Given the description of an element on the screen output the (x, y) to click on. 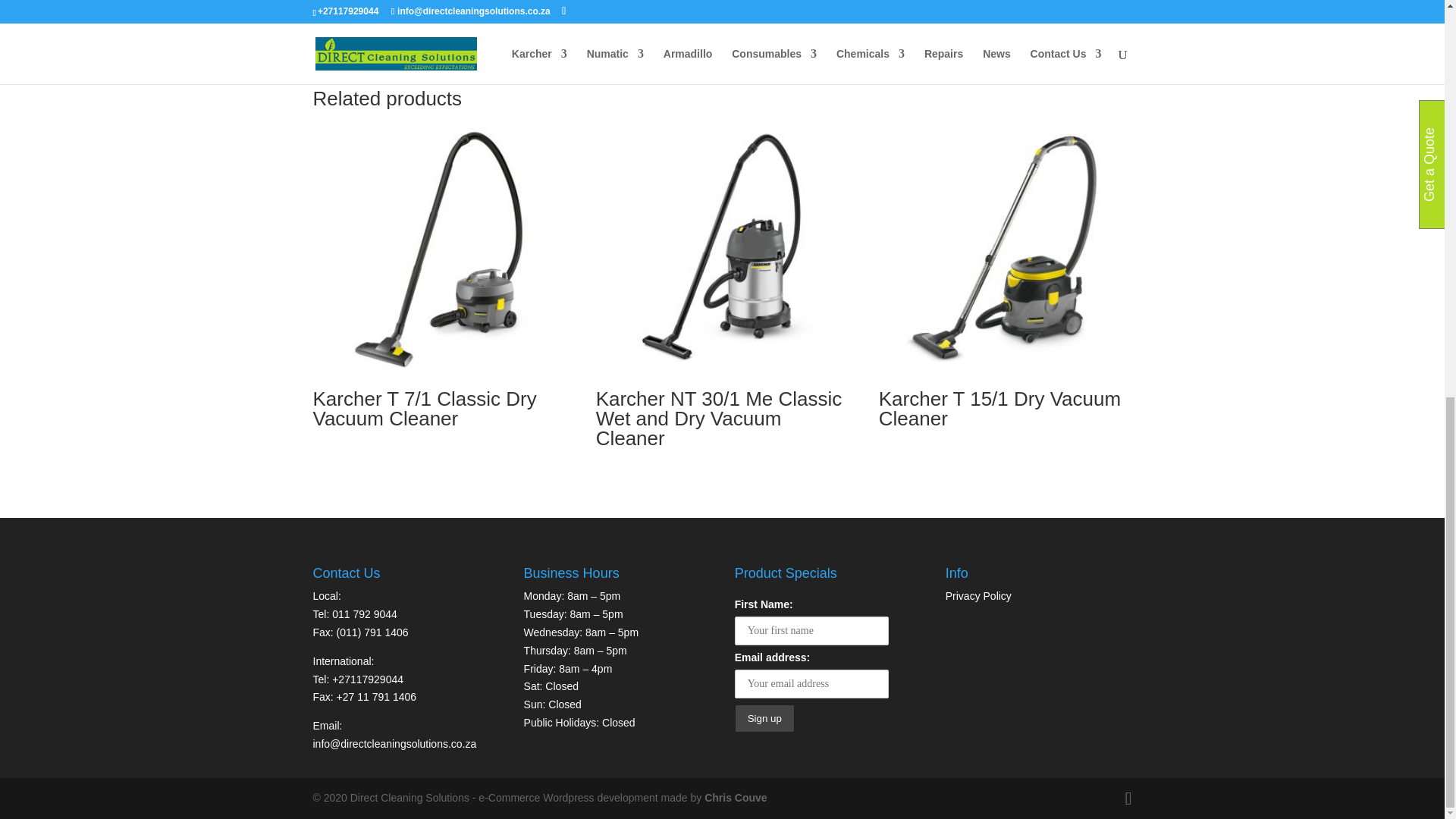
Sign up (764, 718)
